Given the description of an element on the screen output the (x, y) to click on. 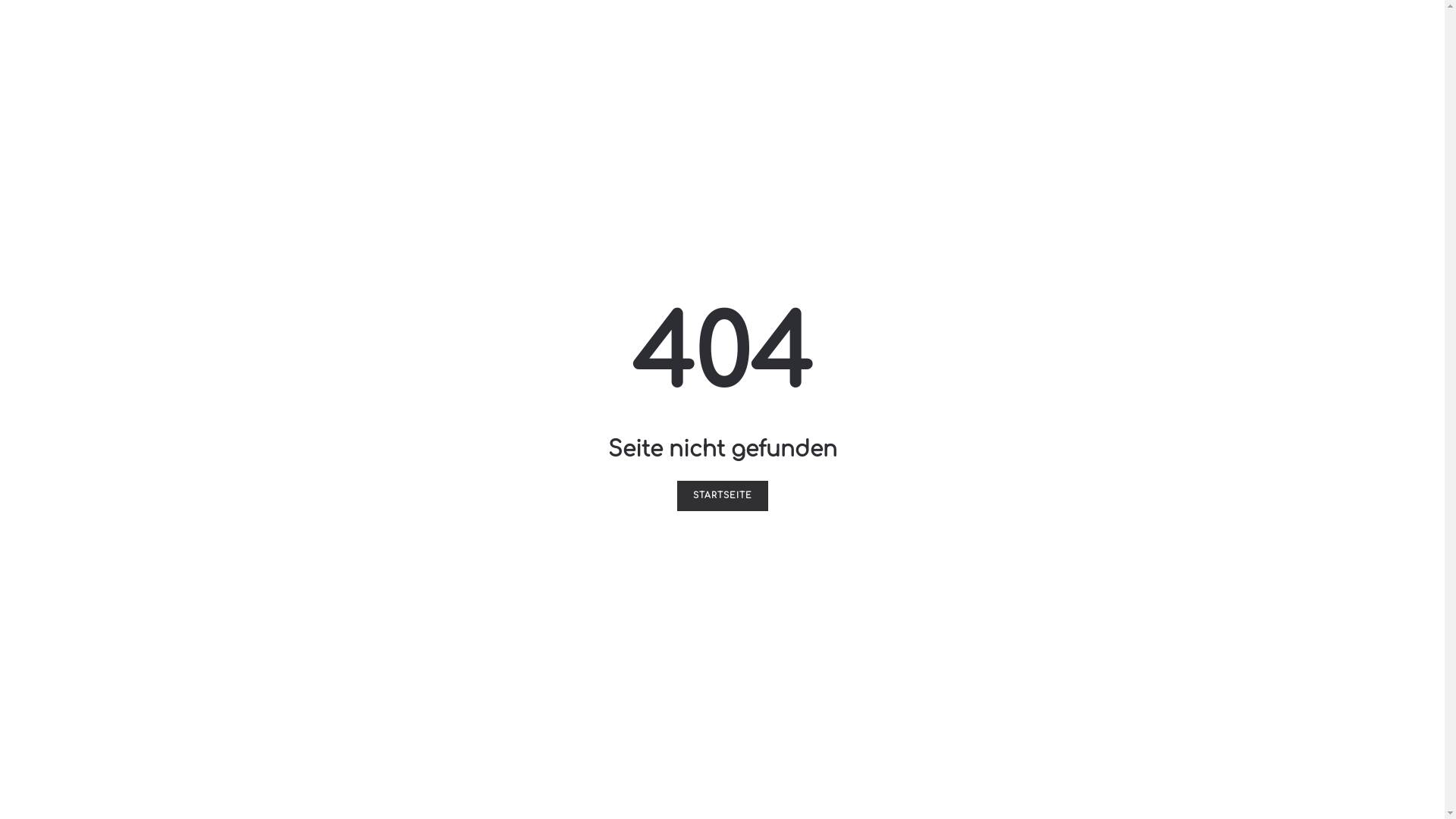
STARTSEITE Element type: text (721, 495)
